Given the description of an element on the screen output the (x, y) to click on. 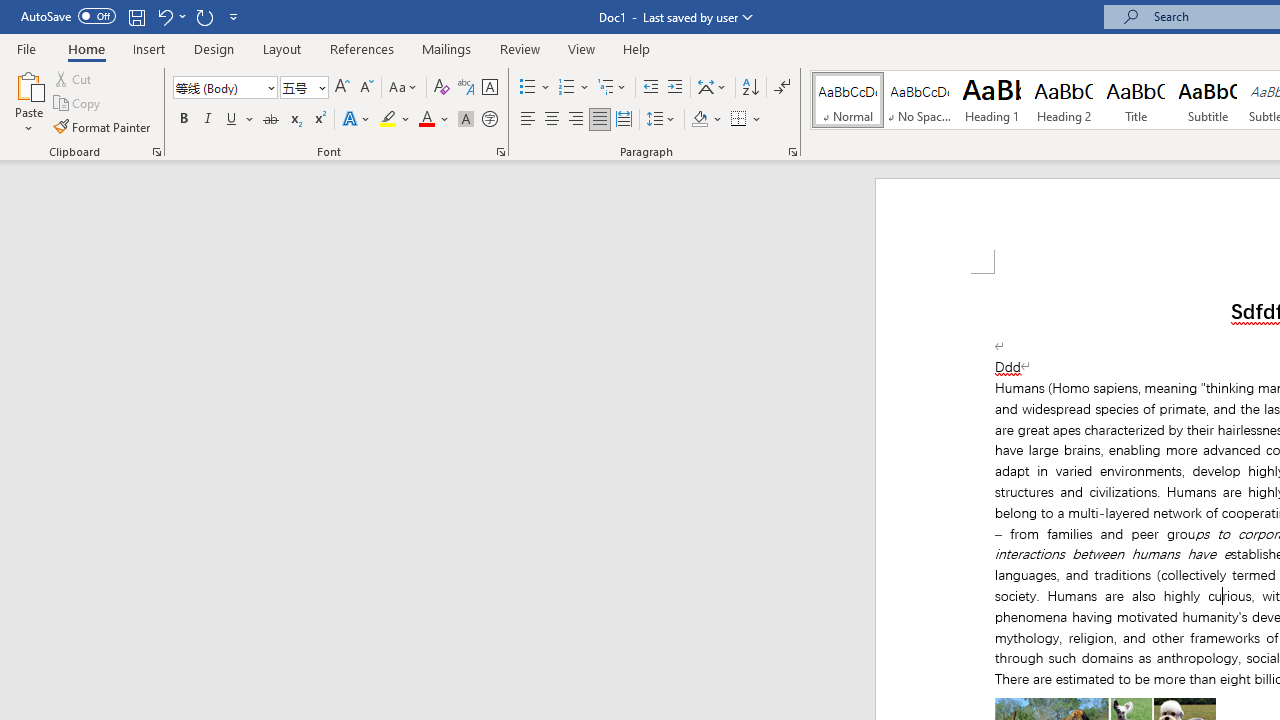
Strikethrough (270, 119)
Change Case (404, 87)
Align Right (575, 119)
Phonetic Guide... (465, 87)
Character Border (489, 87)
Character Shading (465, 119)
